Given the description of an element on the screen output the (x, y) to click on. 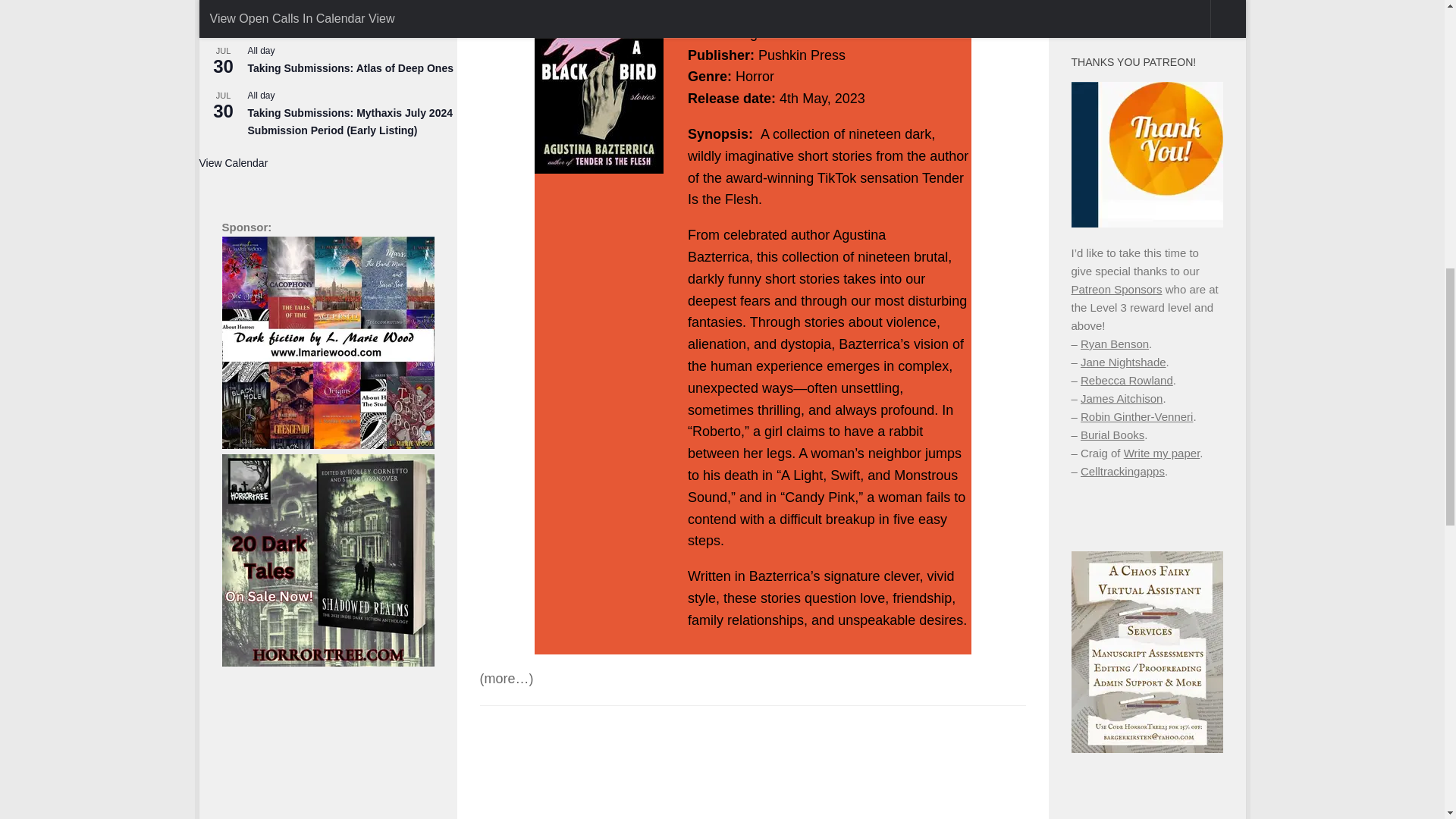
nineteen-Claws-and-a-Black-Bird (598, 86)
